Given the description of an element on the screen output the (x, y) to click on. 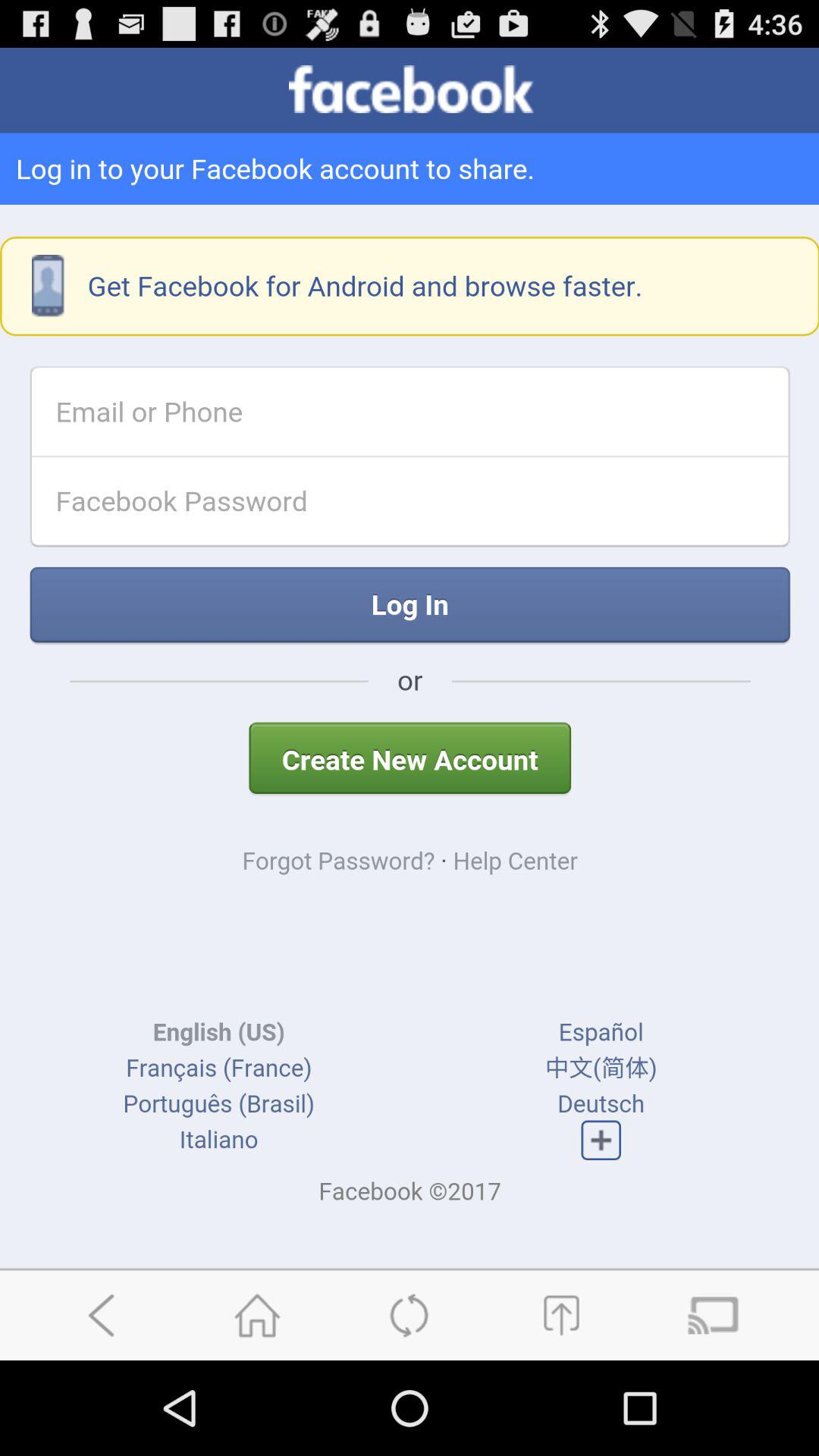
share the article (561, 1315)
